Given the description of an element on the screen output the (x, y) to click on. 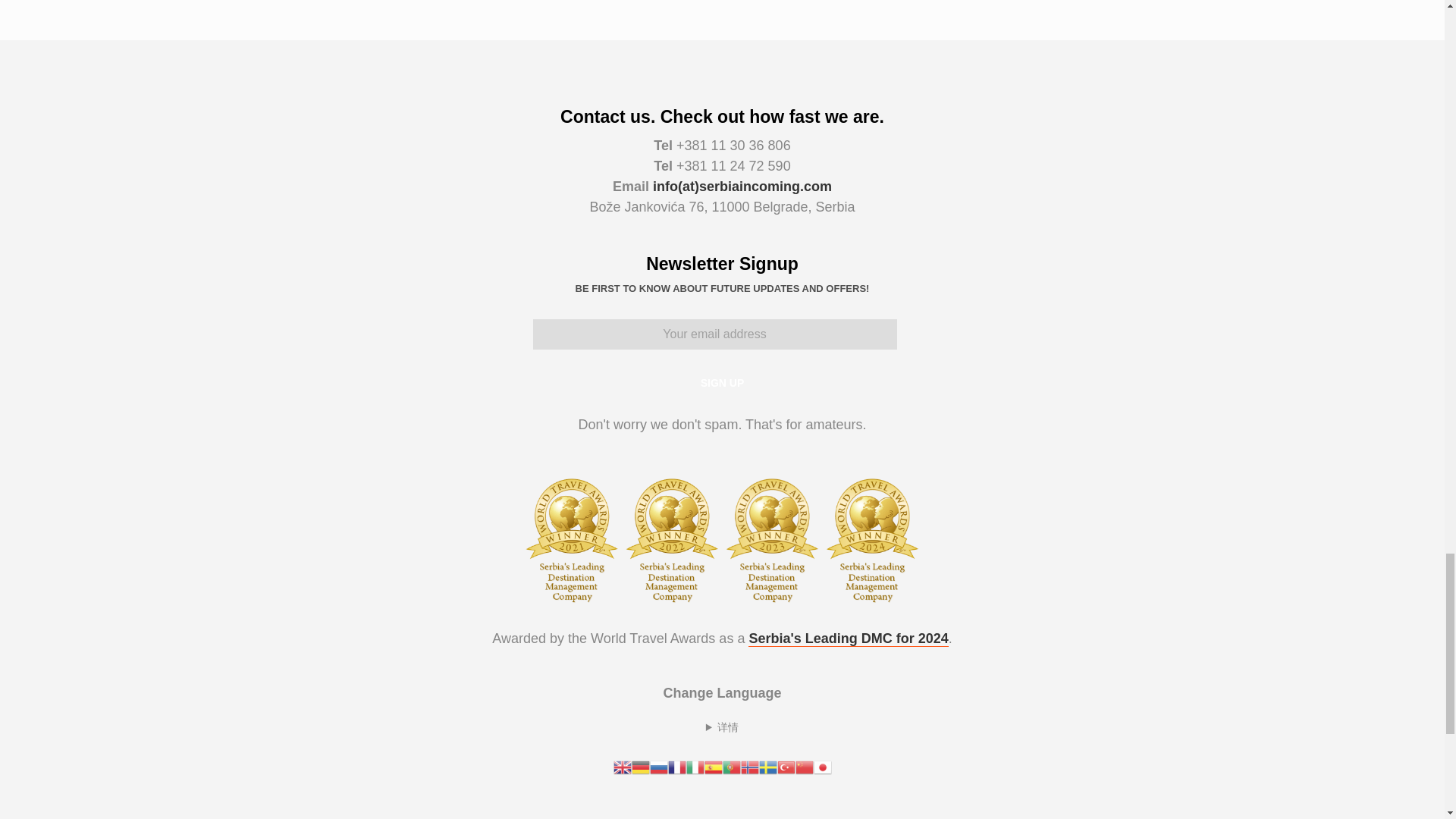
English (621, 765)
Deutsch (639, 765)
Sign up (721, 382)
